Given the description of an element on the screen output the (x, y) to click on. 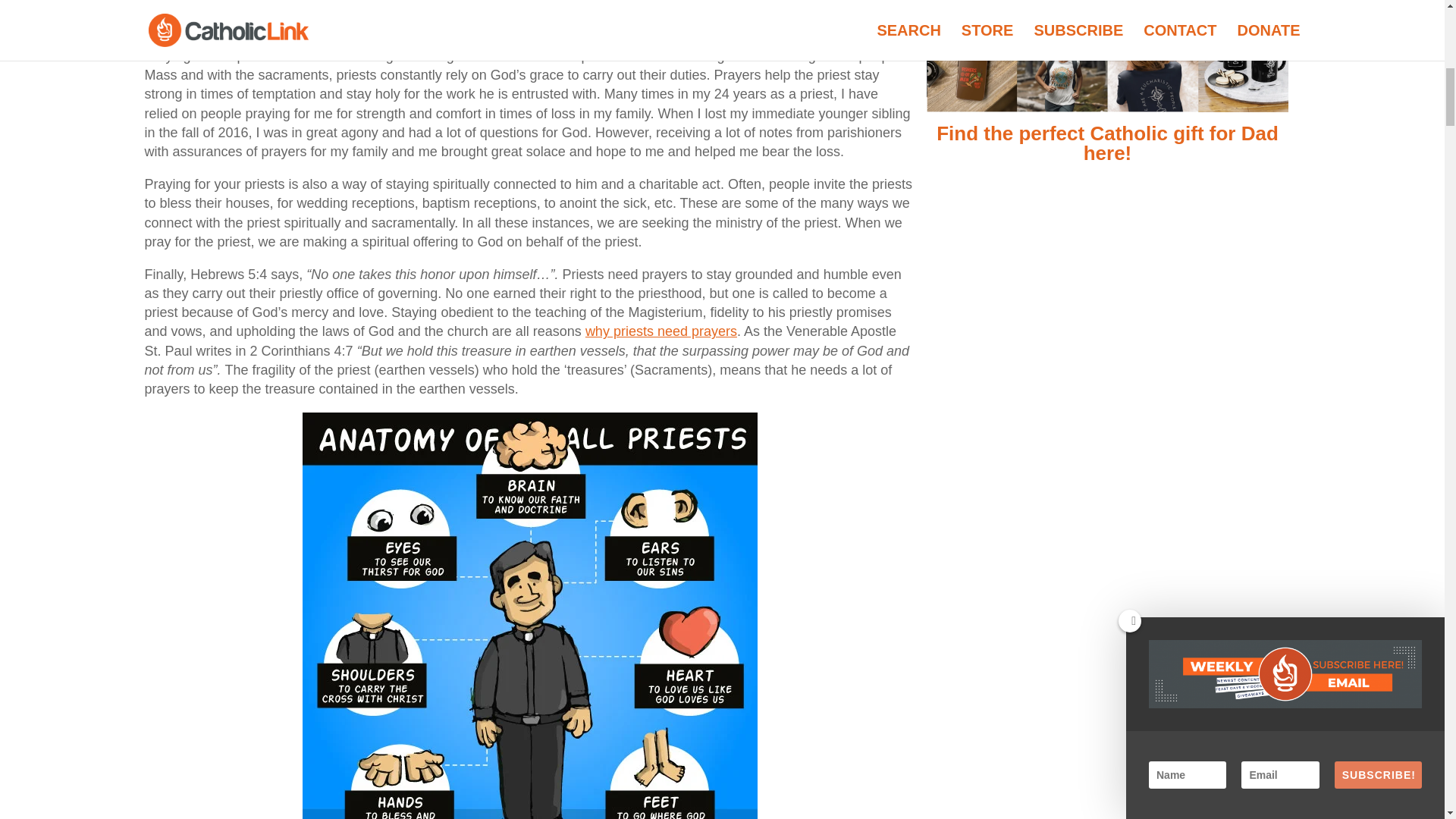
why priests need prayers (660, 331)
